Given the description of an element on the screen output the (x, y) to click on. 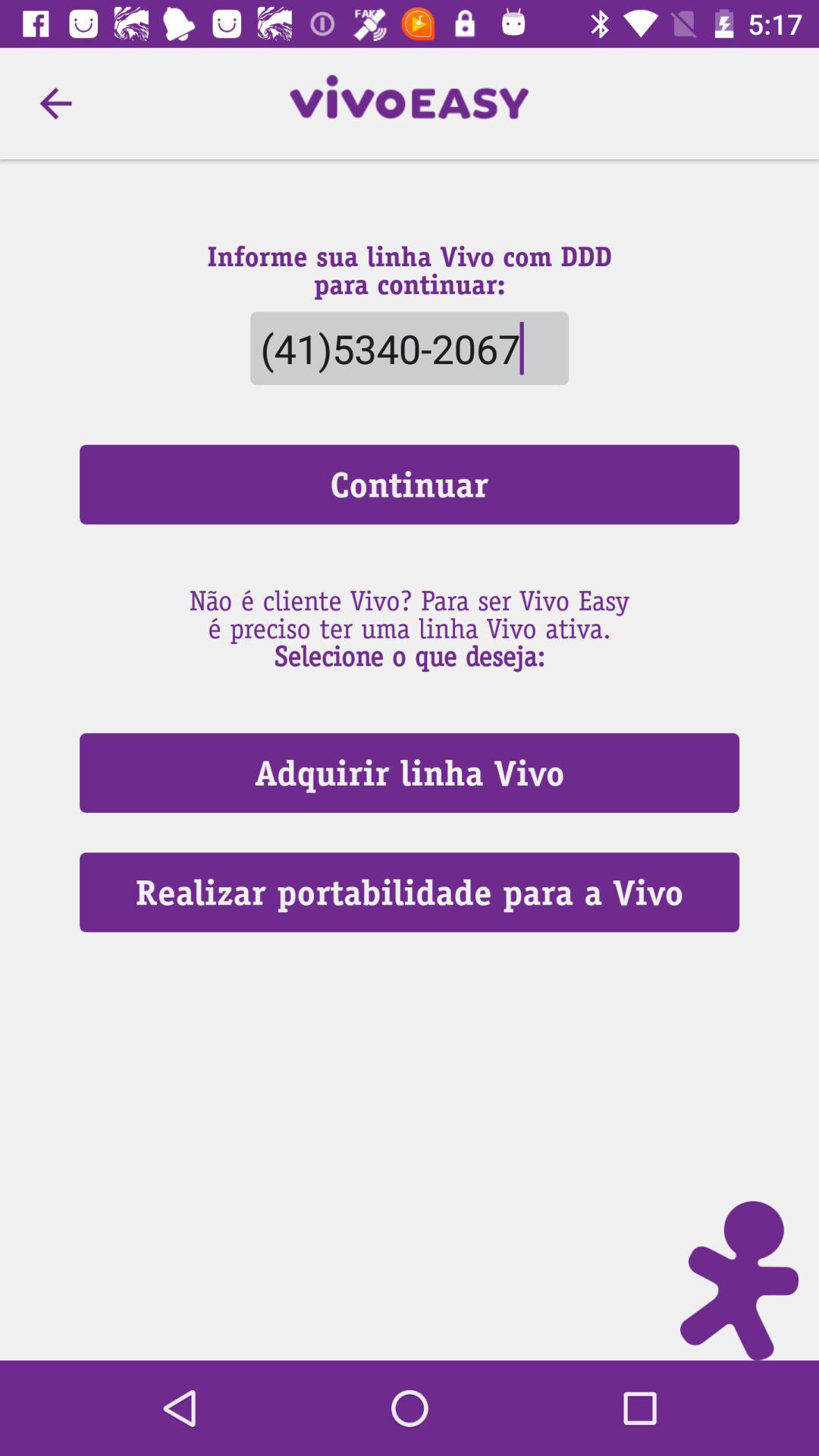
select item above continuar (409, 348)
